Given the description of an element on the screen output the (x, y) to click on. 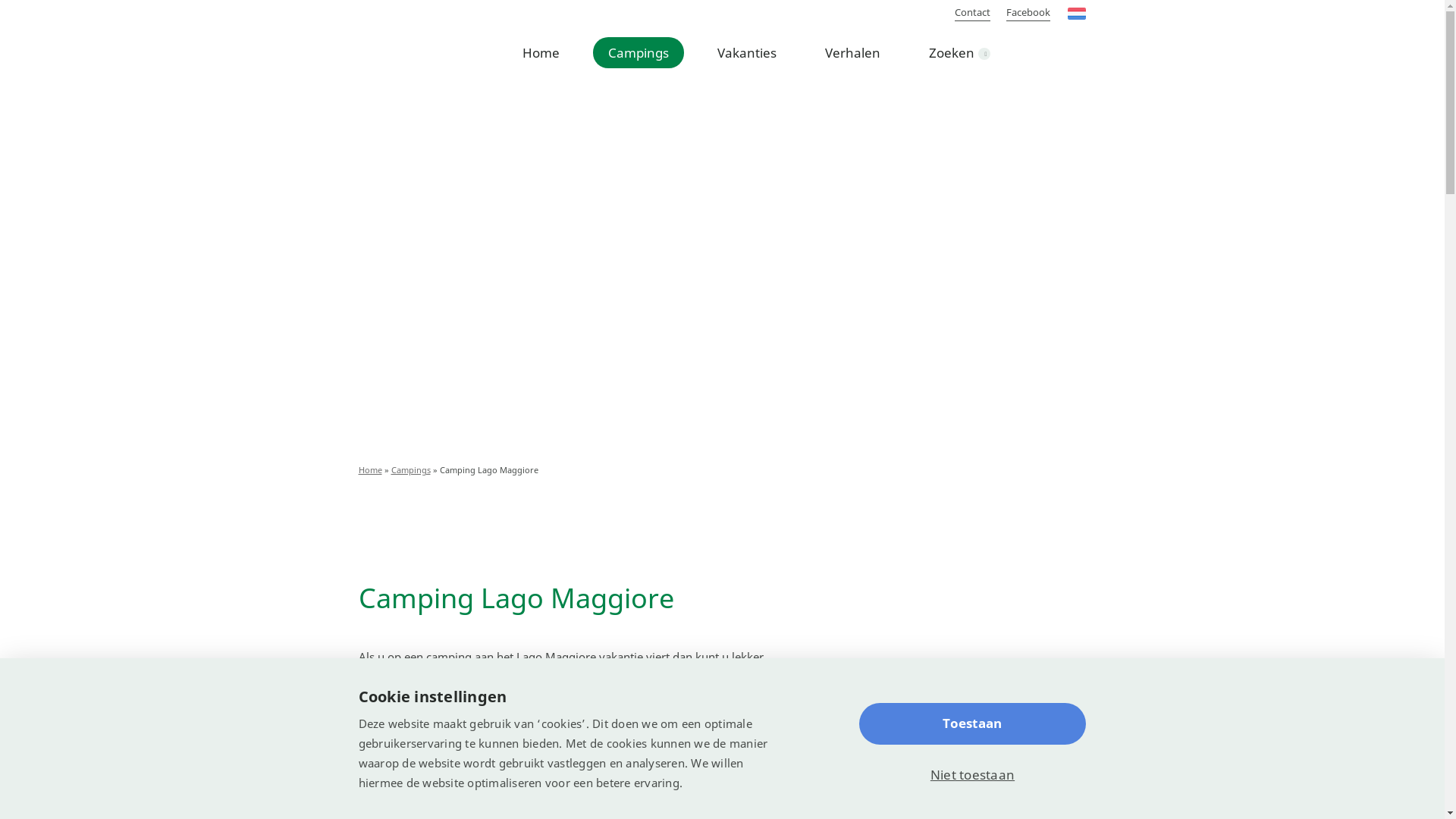
Vakanties Element type: text (746, 52)
Niet toestaan Element type: text (972, 774)
Home Element type: text (540, 52)
Zoeken Element type: text (958, 52)
Toestaan Element type: text (971, 722)
Verhalen Element type: text (852, 52)
Facebook Element type: text (1027, 11)
Campings Element type: text (410, 469)
Home Element type: text (369, 469)
Contact Element type: text (971, 11)
Campings Element type: text (638, 52)
